Given the description of an element on the screen output the (x, y) to click on. 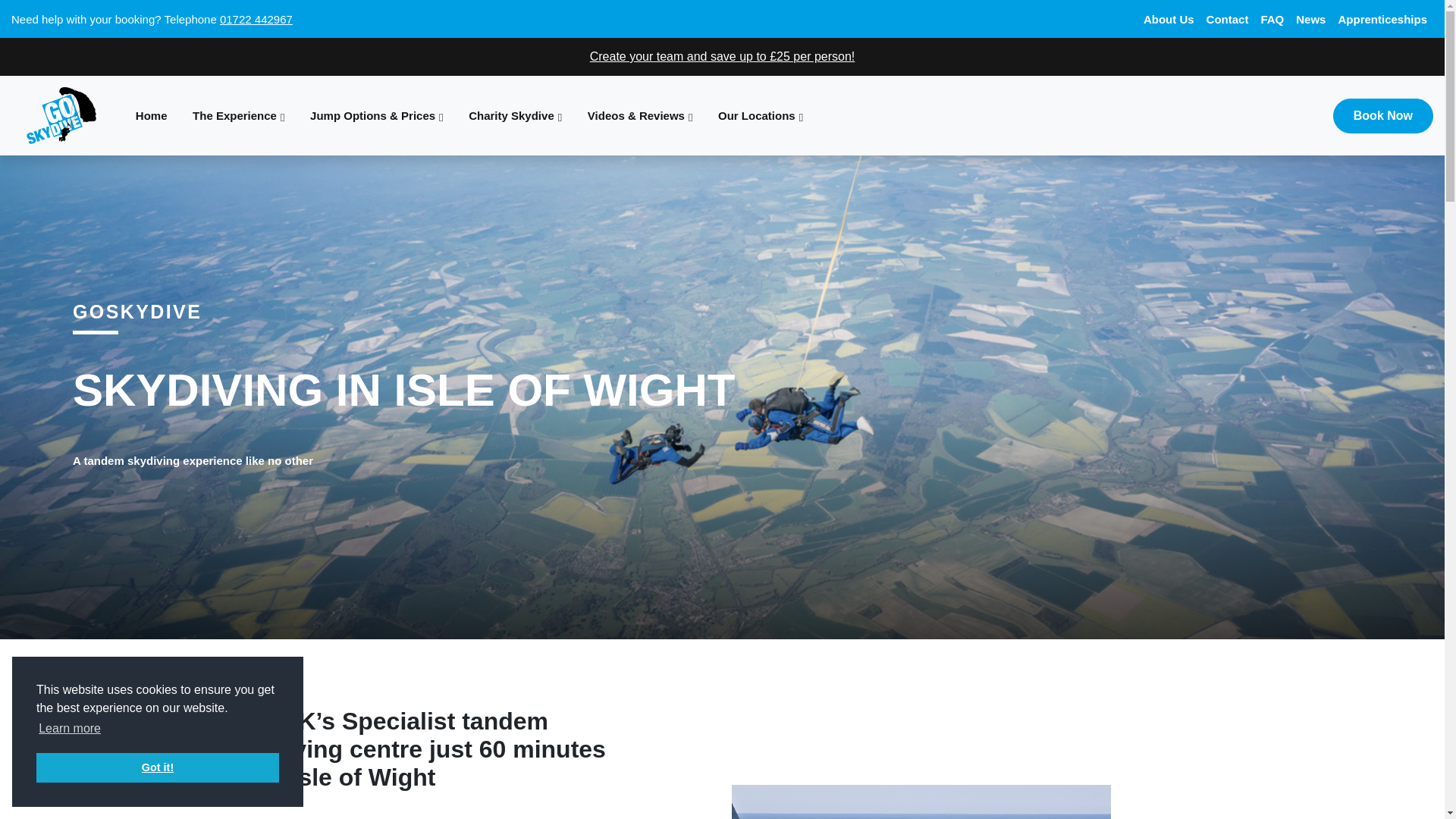
Got it! (157, 767)
Charity Skydive (515, 115)
Our Locations (759, 115)
01722 442967 (255, 18)
Learn more (69, 728)
The Experience (238, 115)
Contact (1227, 19)
Chat (1406, 779)
News (1311, 19)
FAQ (1271, 19)
Apprenticeships (1382, 19)
About Us (1168, 19)
Home (150, 115)
Book Now (1382, 115)
